Given the description of an element on the screen output the (x, y) to click on. 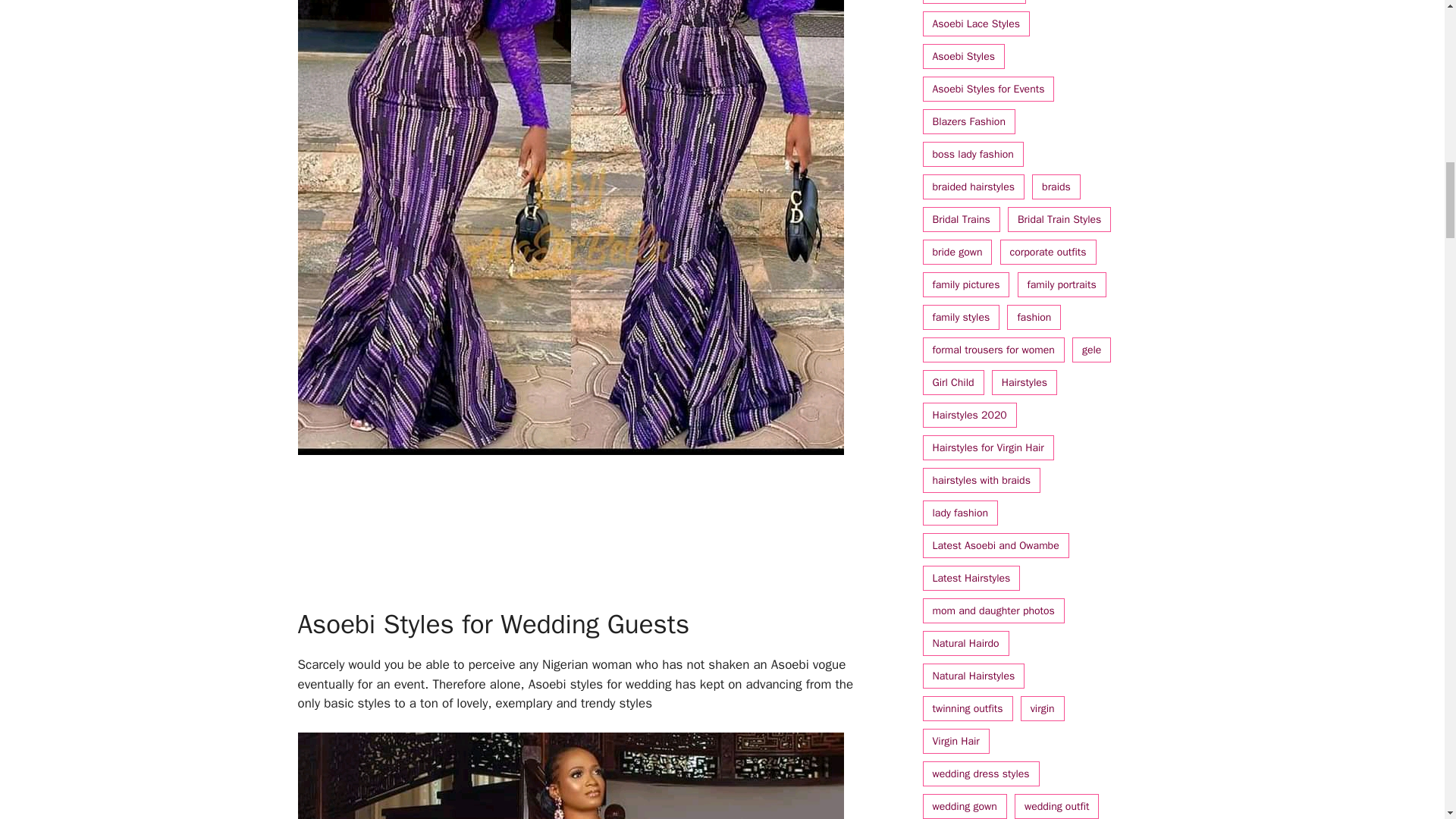
Advertisement (579, 531)
